Given the description of an element on the screen output the (x, y) to click on. 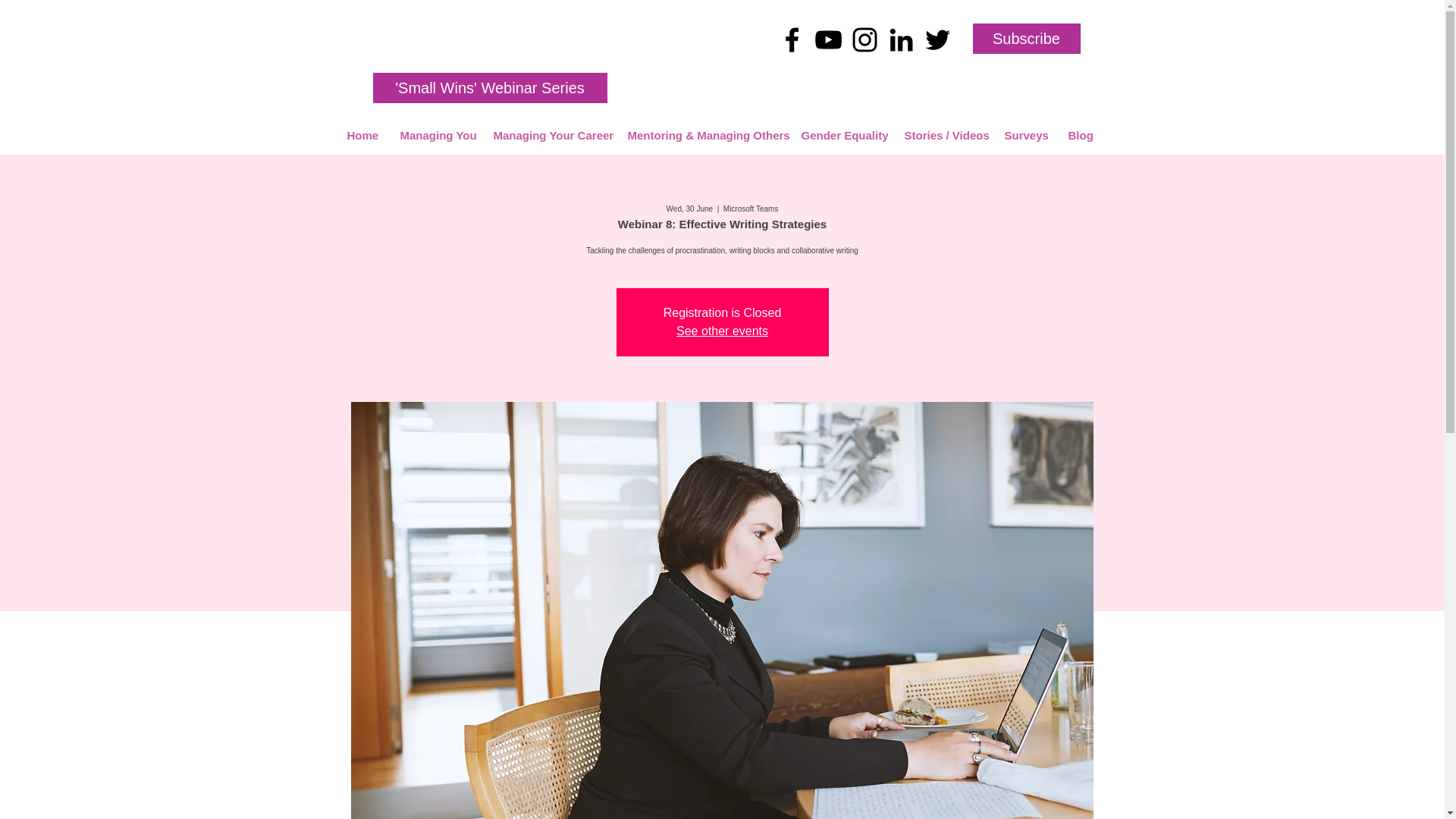
'Small Wins' Webinar Series (489, 87)
Subscribe (1026, 38)
Home (361, 135)
